Given the description of an element on the screen output the (x, y) to click on. 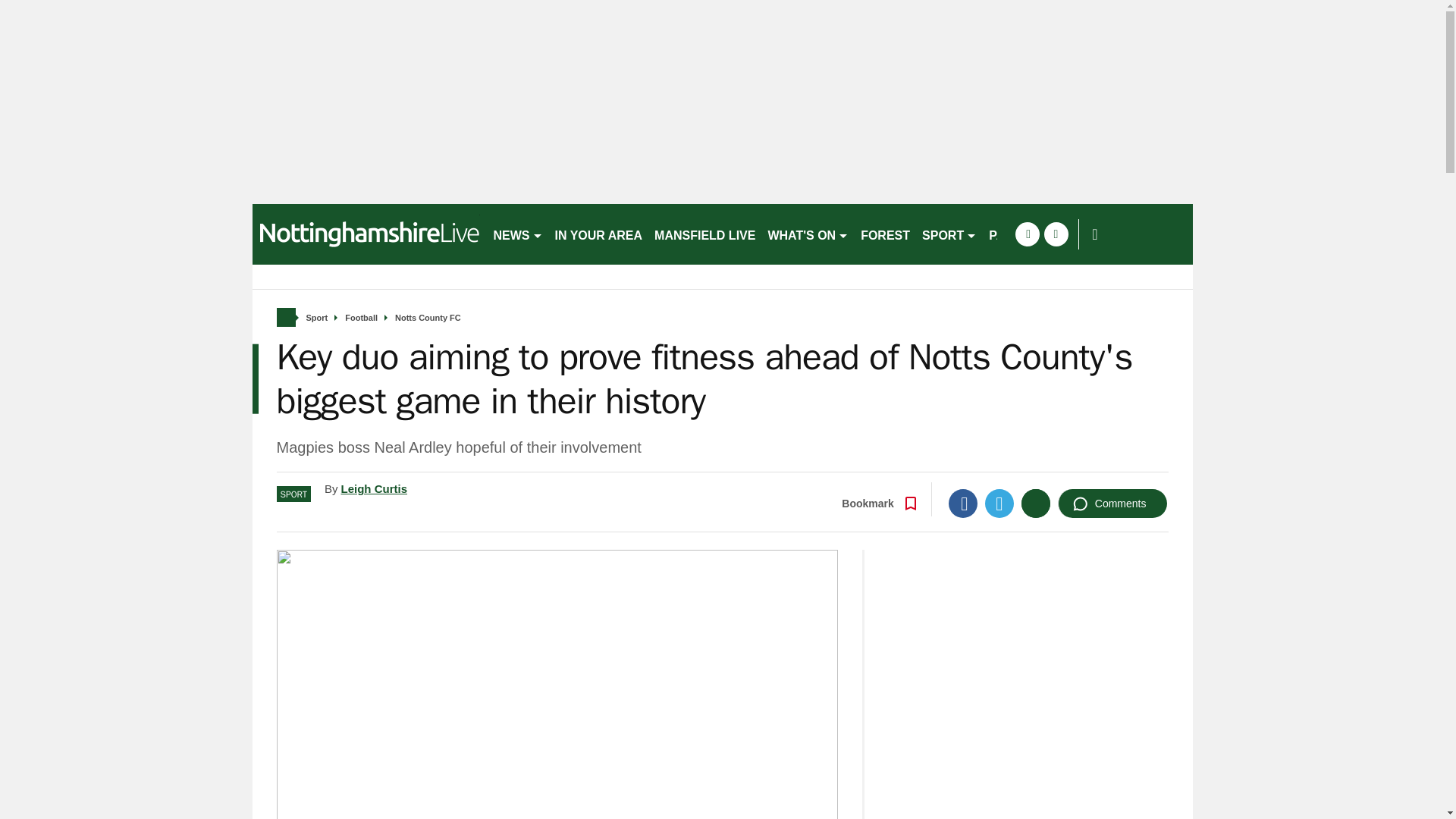
MANSFIELD LIVE (704, 233)
NEWS (517, 233)
FOREST (884, 233)
twitter (1055, 233)
Facebook (962, 502)
WHAT'S ON (807, 233)
Twitter (999, 502)
Comments (1112, 502)
facebook (1026, 233)
nottinghampost (365, 233)
IN YOUR AREA (598, 233)
PARTNER STORIES (1045, 233)
SPORT (948, 233)
